Given the description of an element on the screen output the (x, y) to click on. 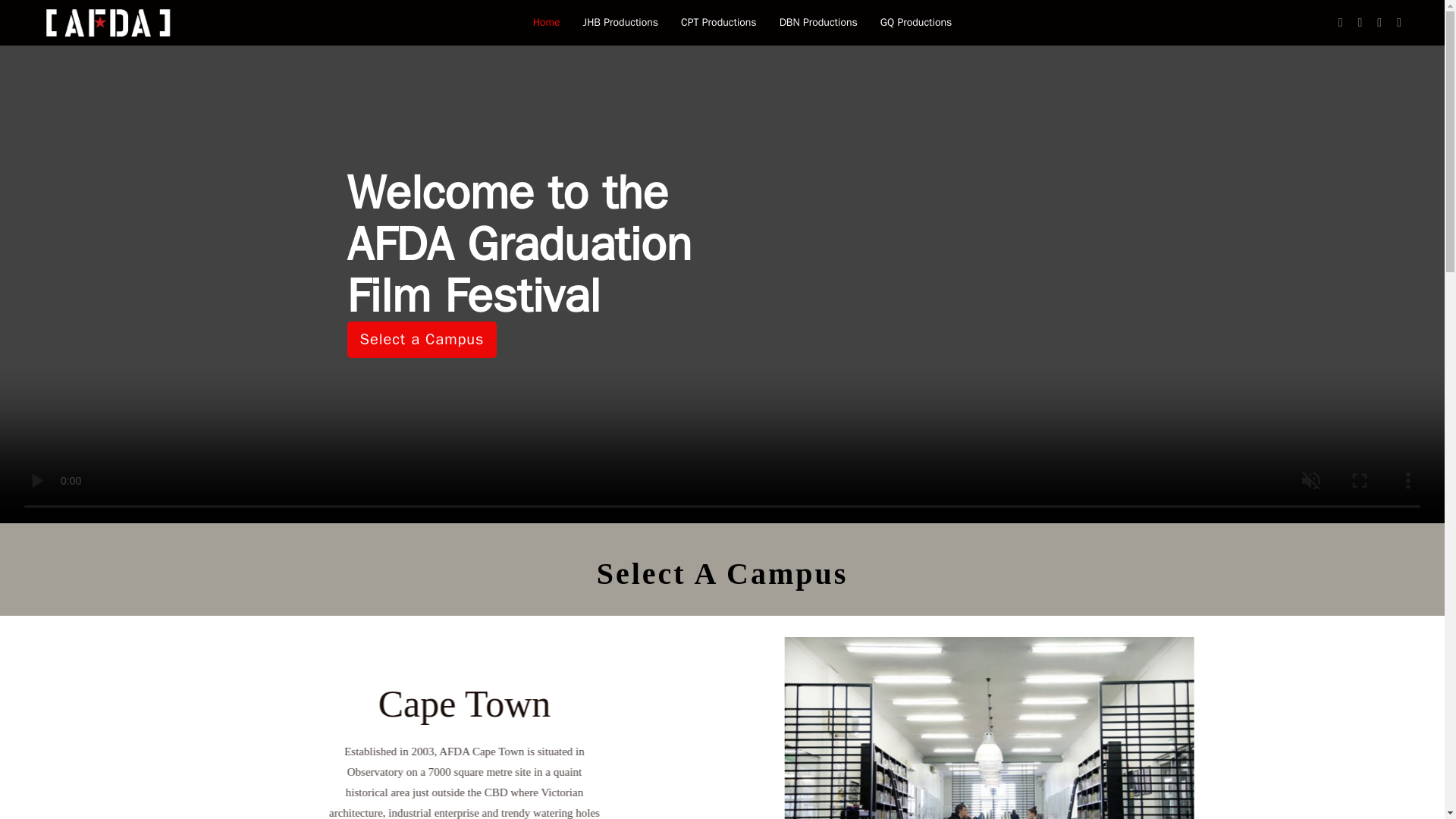
JHB Productions (620, 22)
GQ Productions (910, 22)
Home (546, 22)
DBN Productions (818, 22)
CPT Productions (718, 22)
Select a Campus (422, 339)
